Given the description of an element on the screen output the (x, y) to click on. 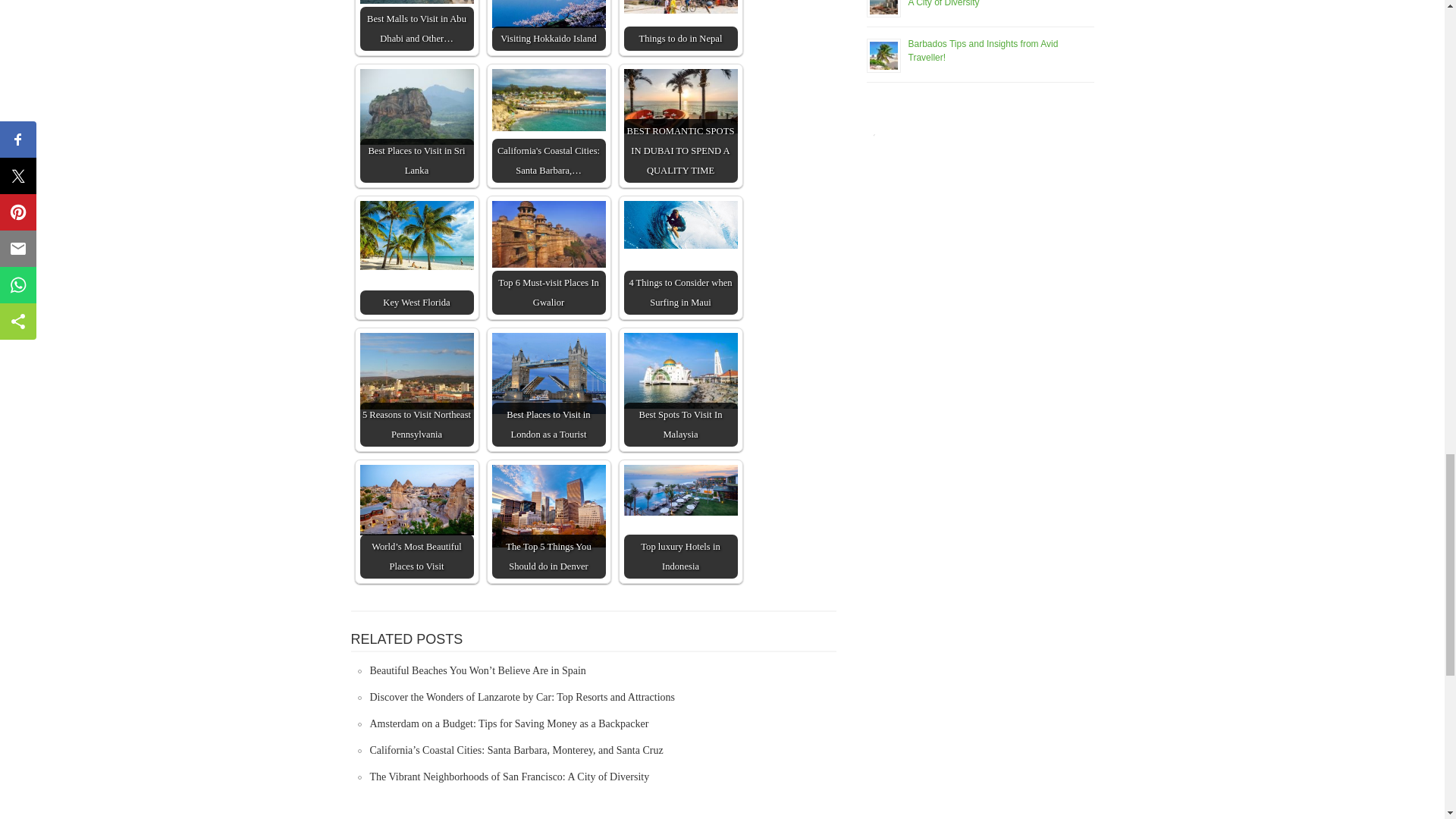
Things to do in Nepal (679, 6)
Key West Florida (416, 257)
Things to do in Nepal (679, 25)
Visiting Hokkaido Island (548, 13)
Best Places to Visit in Sri Lanka (416, 125)
BEST ROMANTIC SPOTS IN DUBAI TO SPEND A QUALITY TIME (679, 125)
Visiting Hokkaido Island (548, 25)
